Given the description of an element on the screen output the (x, y) to click on. 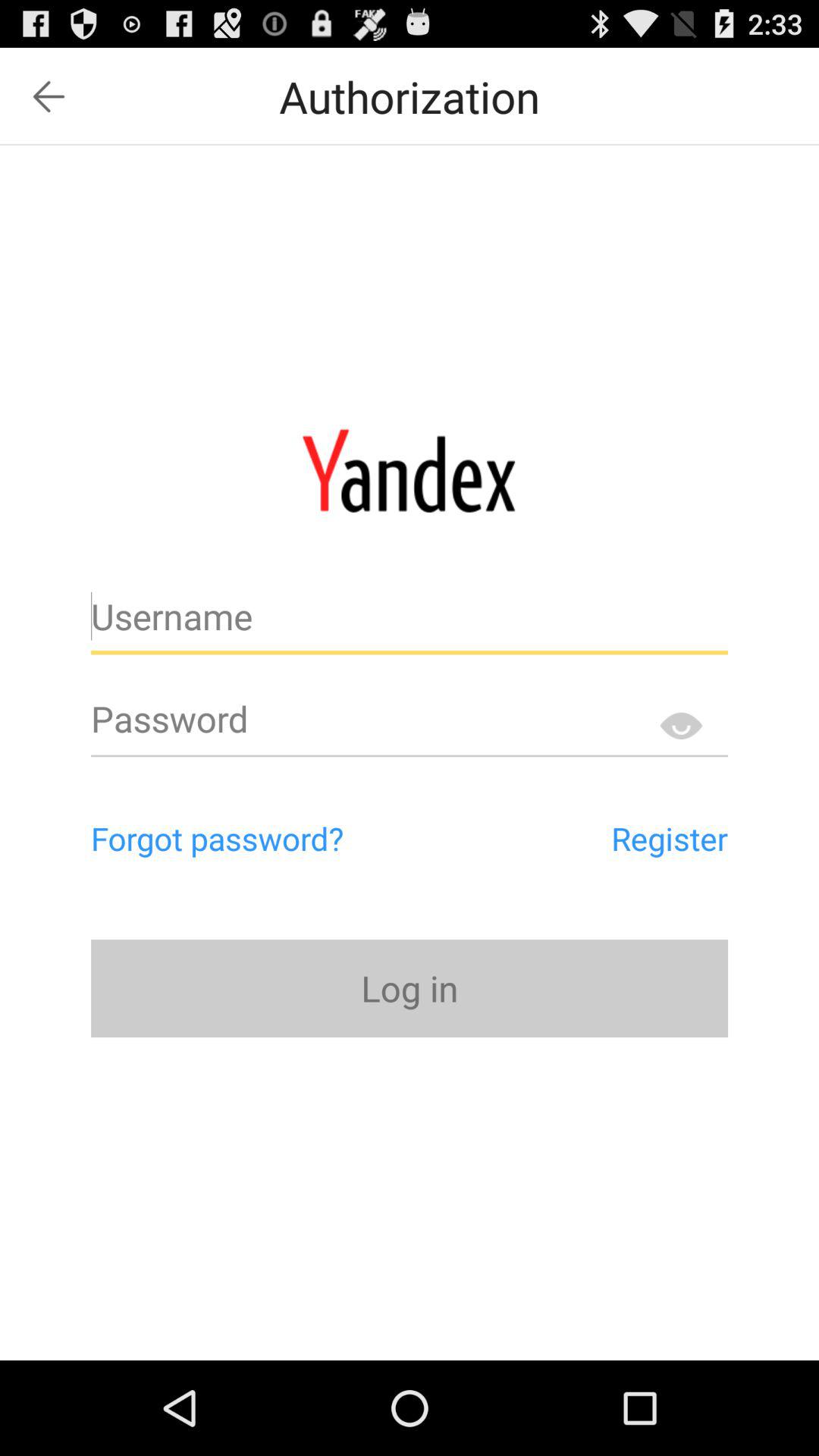
enter username (409, 623)
